Given the description of an element on the screen output the (x, y) to click on. 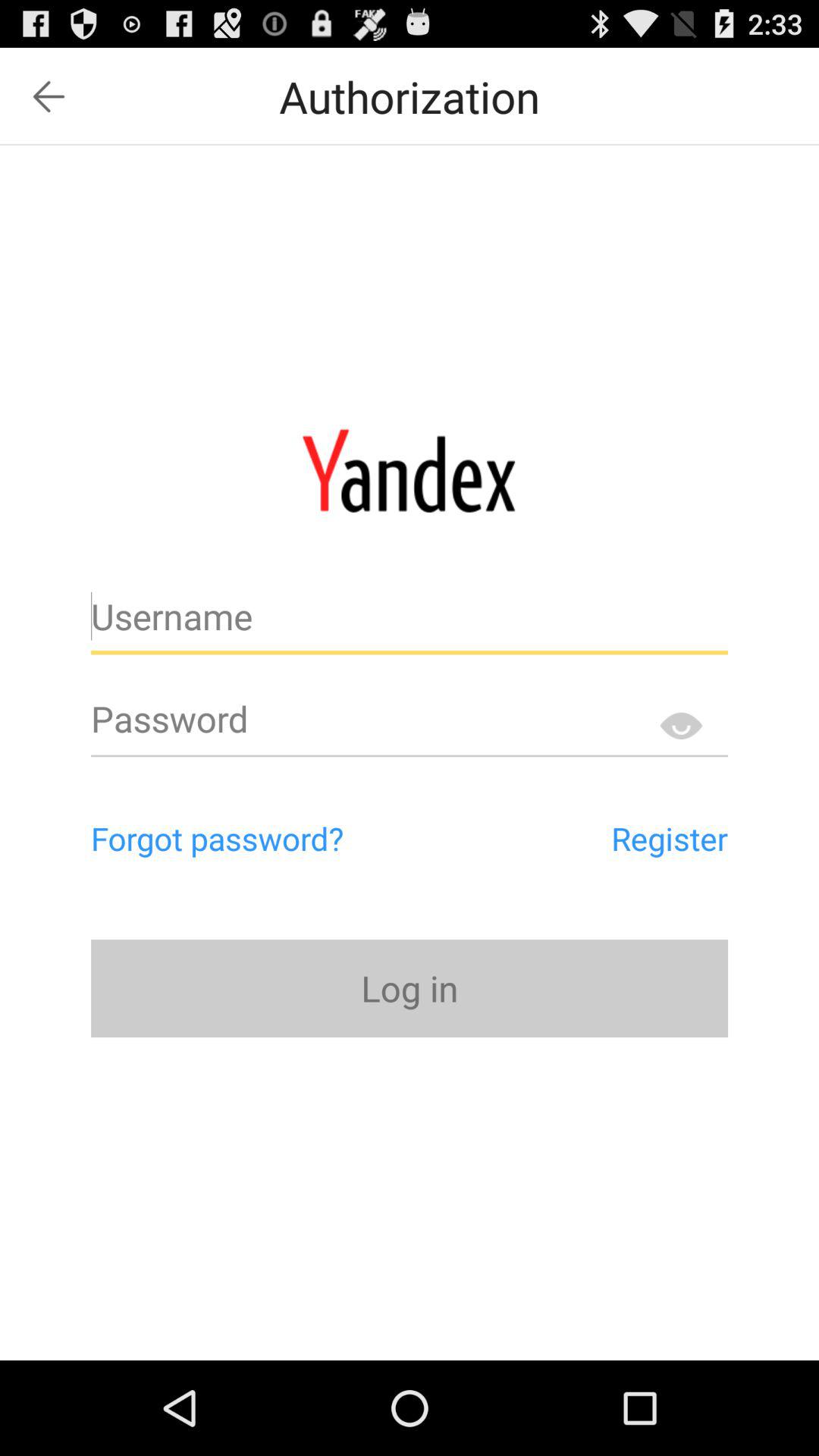
enter username (409, 623)
